Given the description of an element on the screen output the (x, y) to click on. 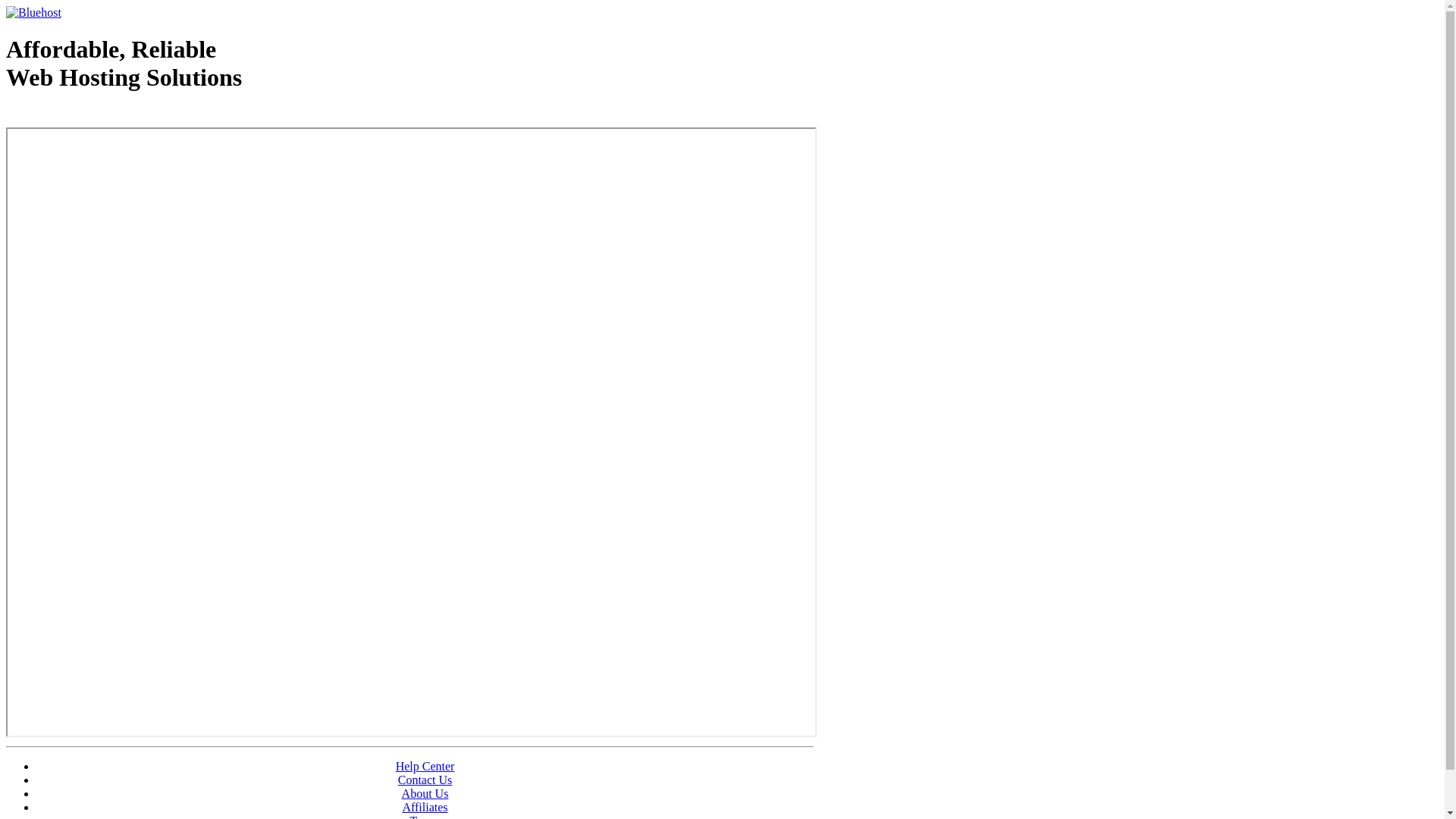
Help Center Element type: text (425, 765)
Contact Us Element type: text (425, 779)
About Us Element type: text (424, 793)
Affiliates Element type: text (424, 806)
Web Hosting - courtesy of www.bluehost.com Element type: text (94, 115)
